Given the description of an element on the screen output the (x, y) to click on. 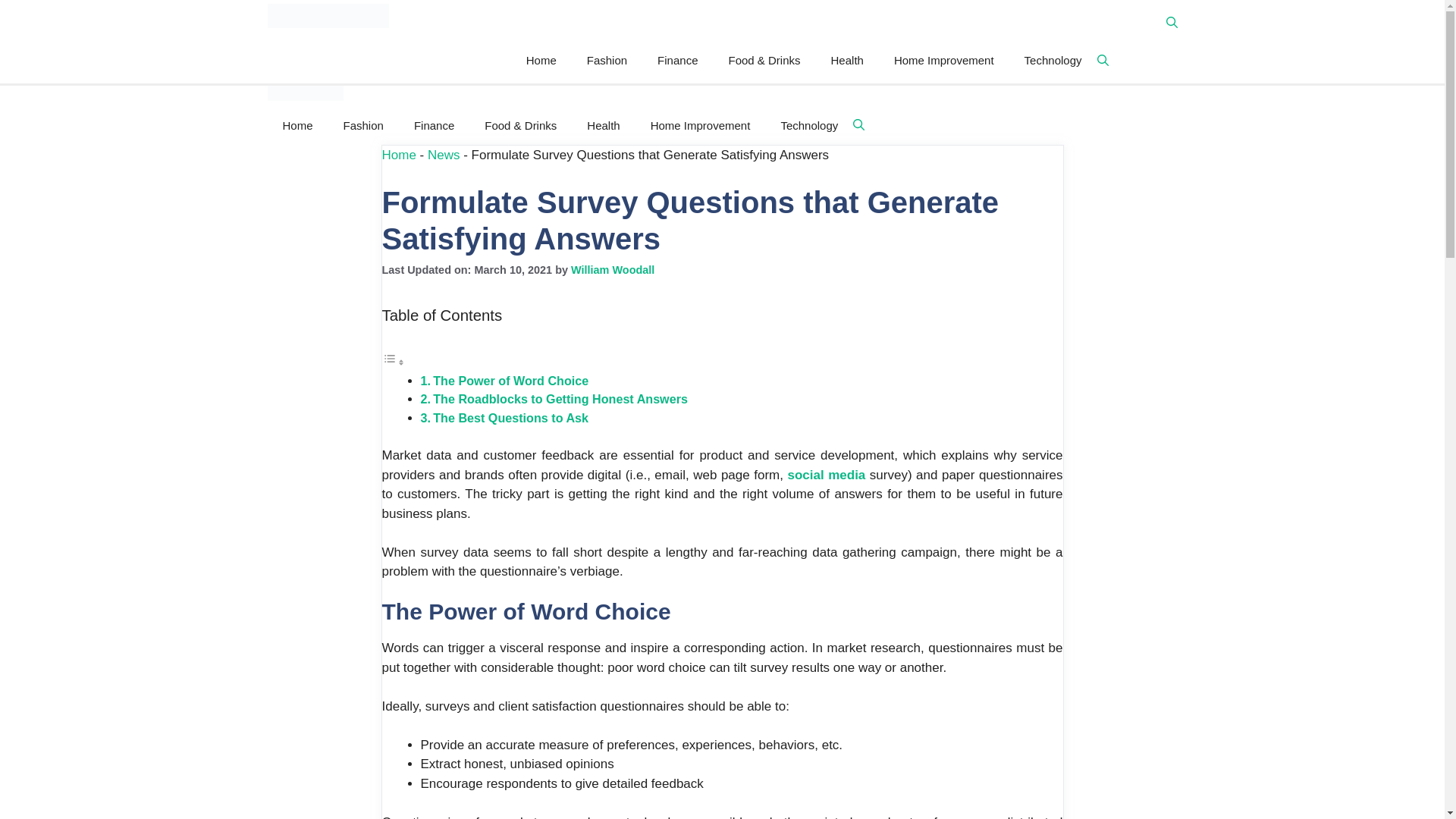
Home Improvement (699, 125)
View all posts by William Woodall (611, 269)
Fashion (607, 60)
William Woodall (611, 269)
Home (541, 60)
Home (398, 154)
Technology (809, 125)
Finance (433, 125)
Home Improvement (944, 60)
social media (825, 474)
Finance (677, 60)
The Roadblocks to Getting Honest Answers (559, 398)
Technology (1053, 60)
Fashion (363, 125)
News (444, 154)
